Given the description of an element on the screen output the (x, y) to click on. 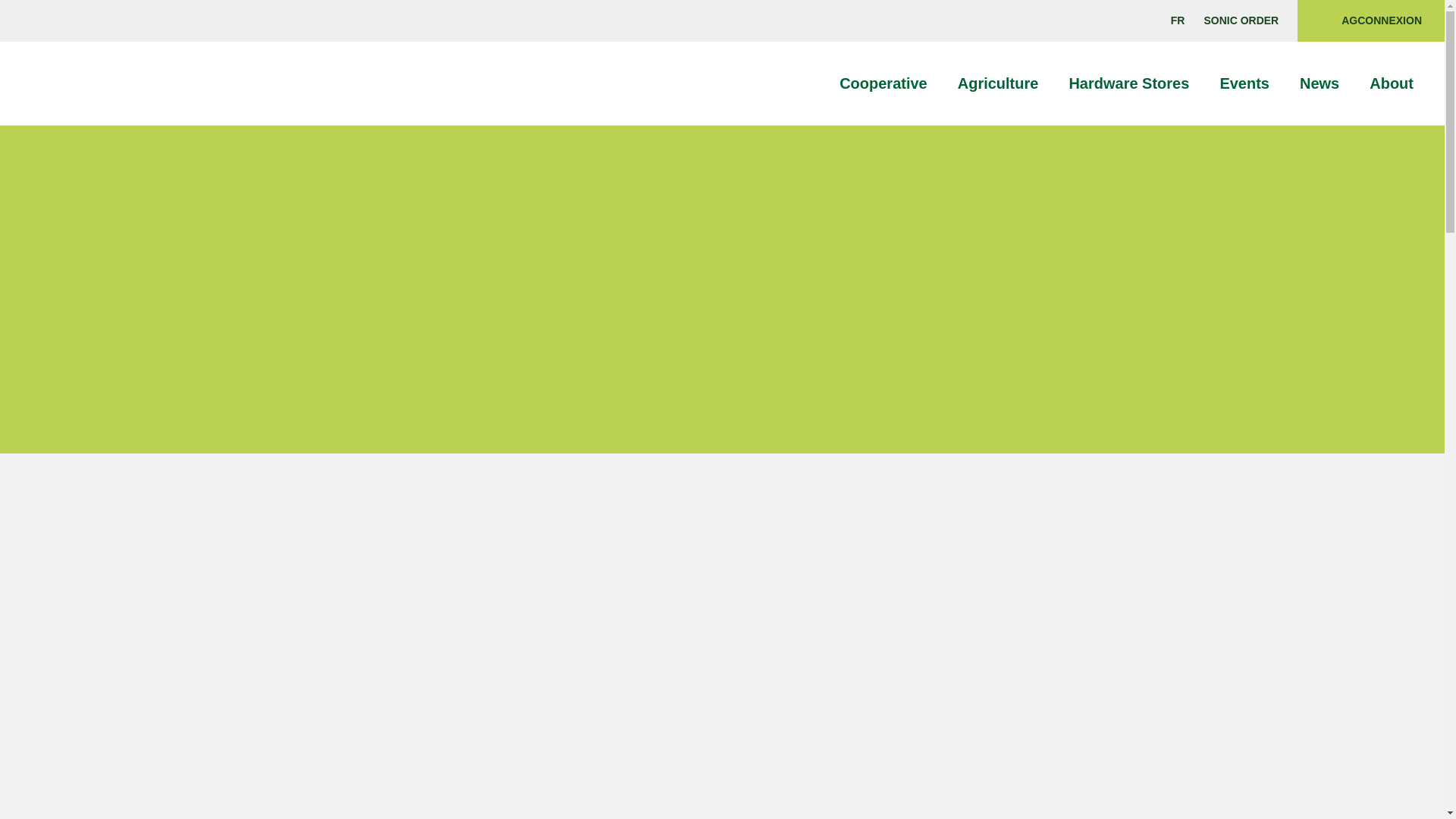
Agriculture (1004, 83)
Events (1251, 83)
News (1326, 83)
Hardware Stores (1135, 83)
Cooperative (890, 83)
About (1398, 83)
FR (1177, 20)
Fr (1177, 20)
SONIC ORDER (1241, 20)
